Given the description of an element on the screen output the (x, y) to click on. 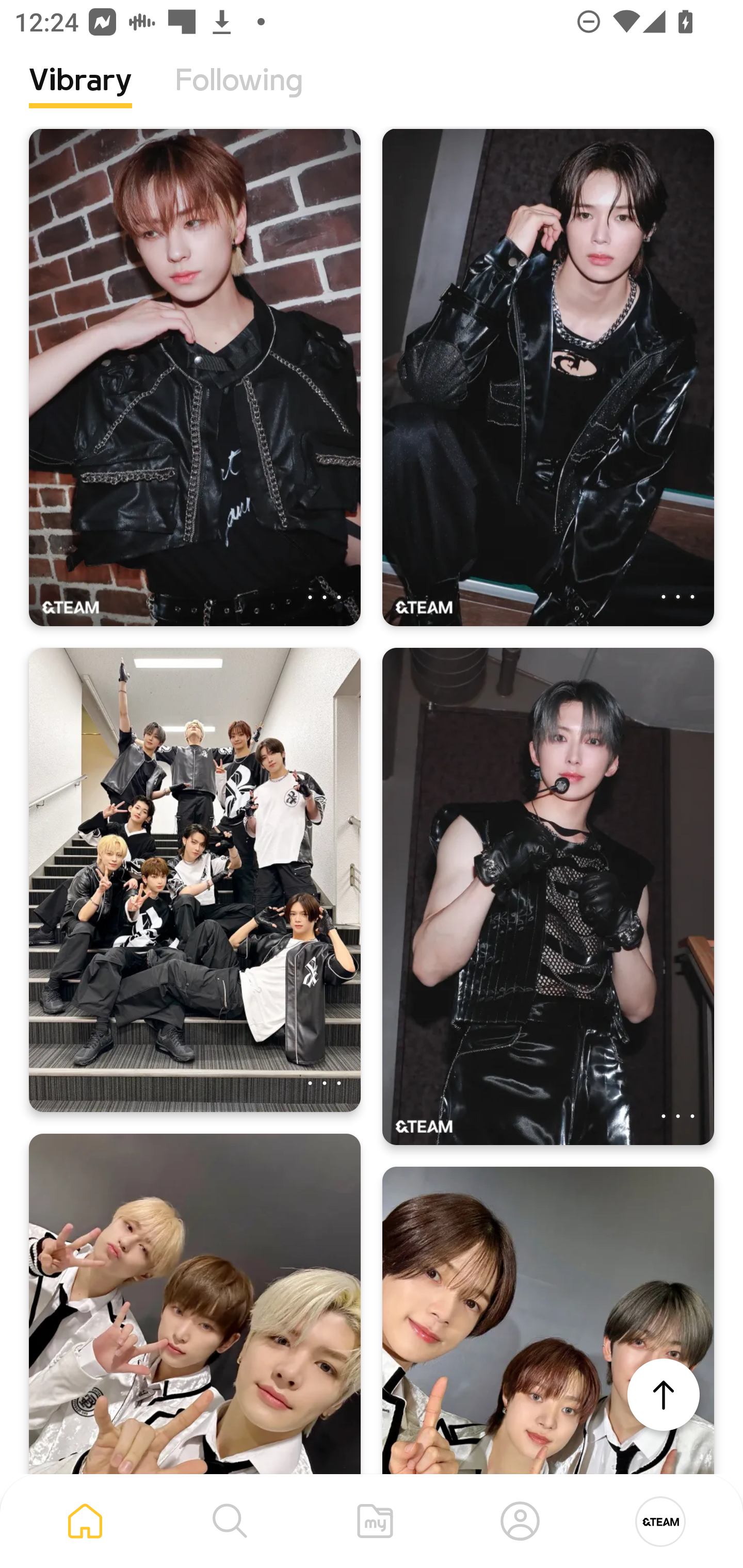
Vibrary (80, 95)
Following (239, 95)
